Given the description of an element on the screen output the (x, y) to click on. 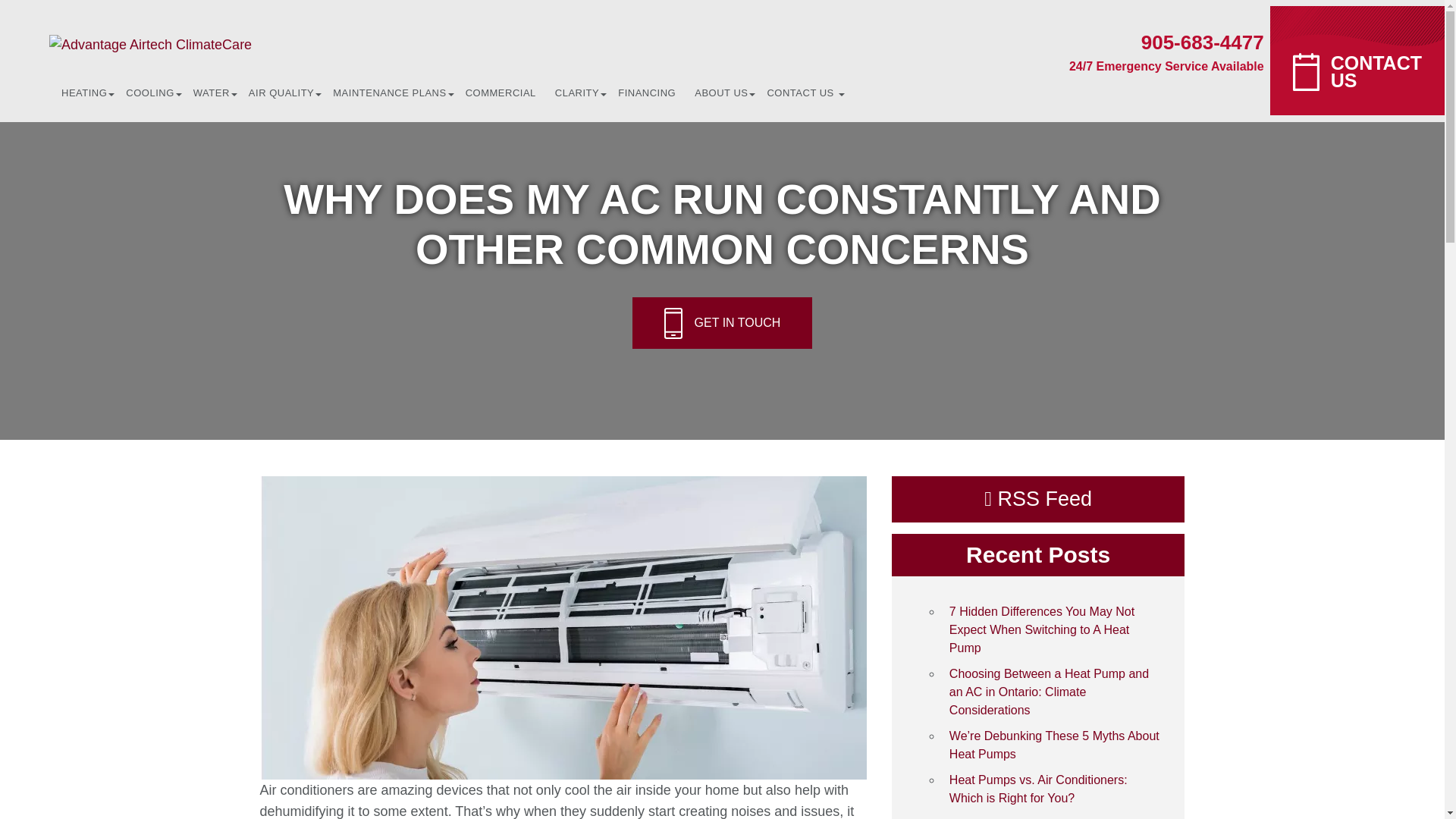
MAINTENANCE PLANS (388, 92)
COOLING (148, 92)
HEATING (88, 92)
WATER (211, 92)
AIR QUALITY (281, 92)
